Given the description of an element on the screen output the (x, y) to click on. 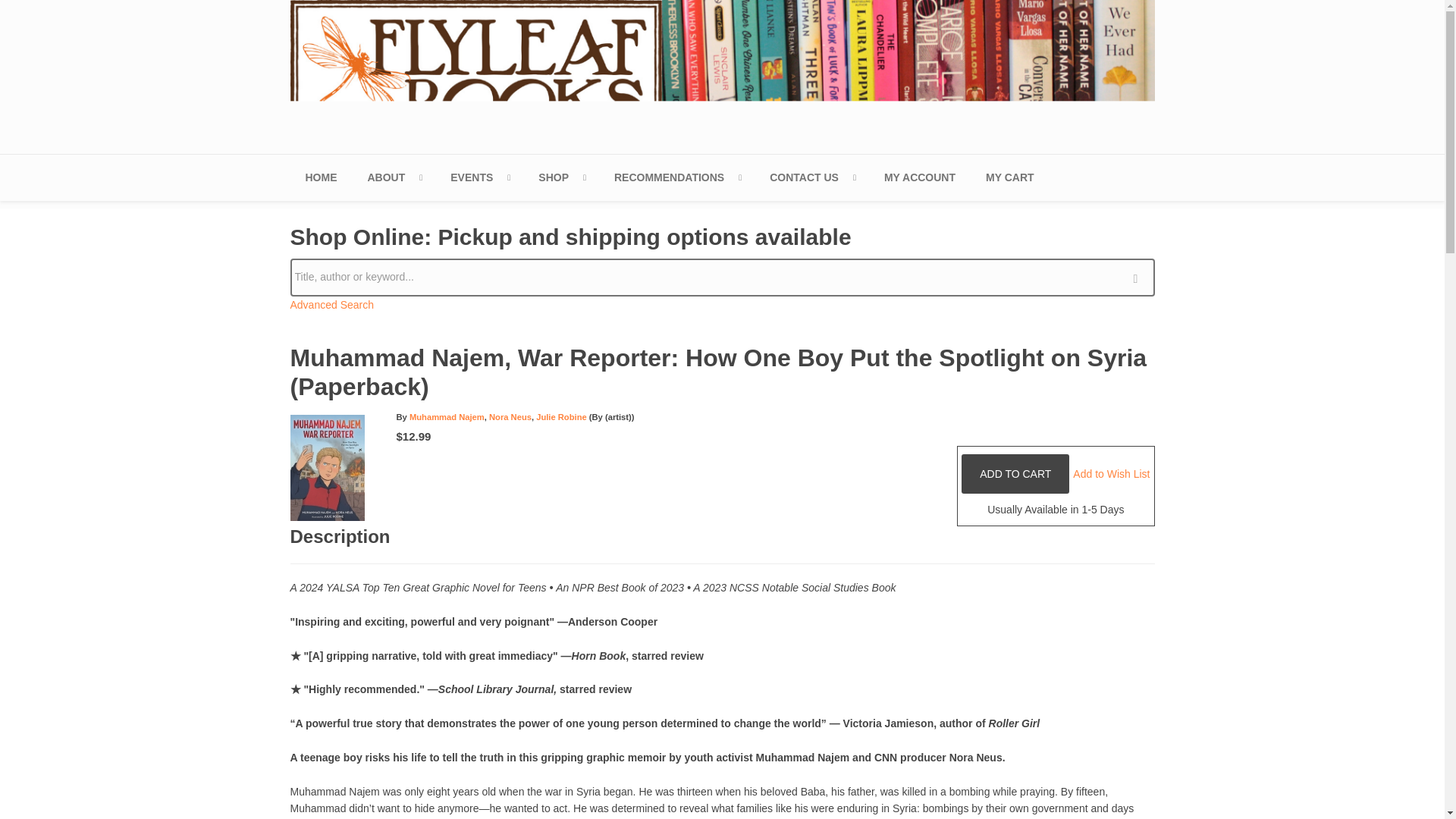
SHOP (560, 177)
Add to Cart (1014, 473)
Lost? Return home! (320, 177)
Title, author or keyword... (721, 277)
RECOMMENDATIONS (676, 177)
Home (721, 73)
HOME (320, 177)
EVENTS (478, 177)
ABOUT (393, 177)
